Given the description of an element on the screen output the (x, y) to click on. 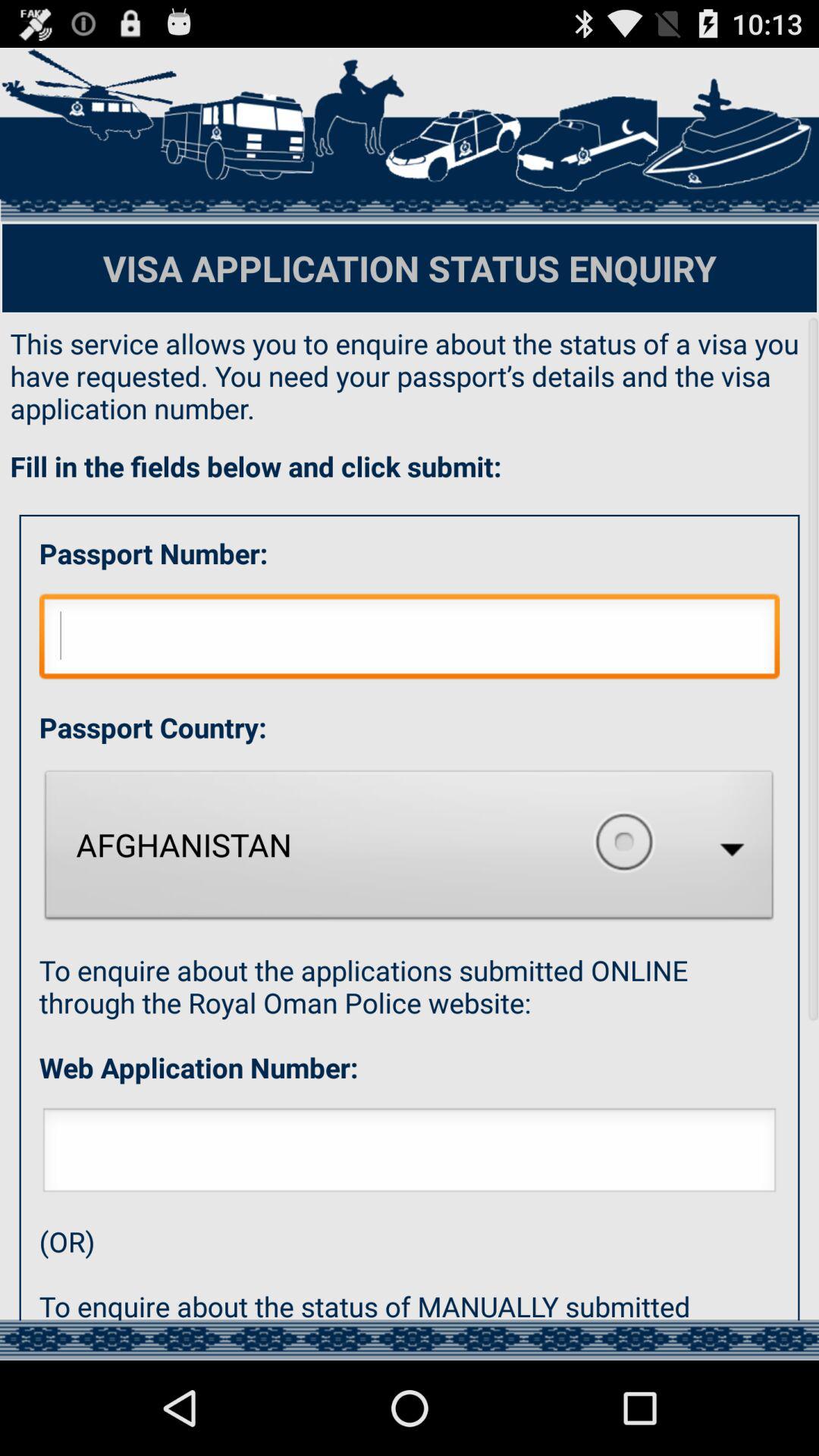
go to passport number (409, 640)
